Given the description of an element on the screen output the (x, y) to click on. 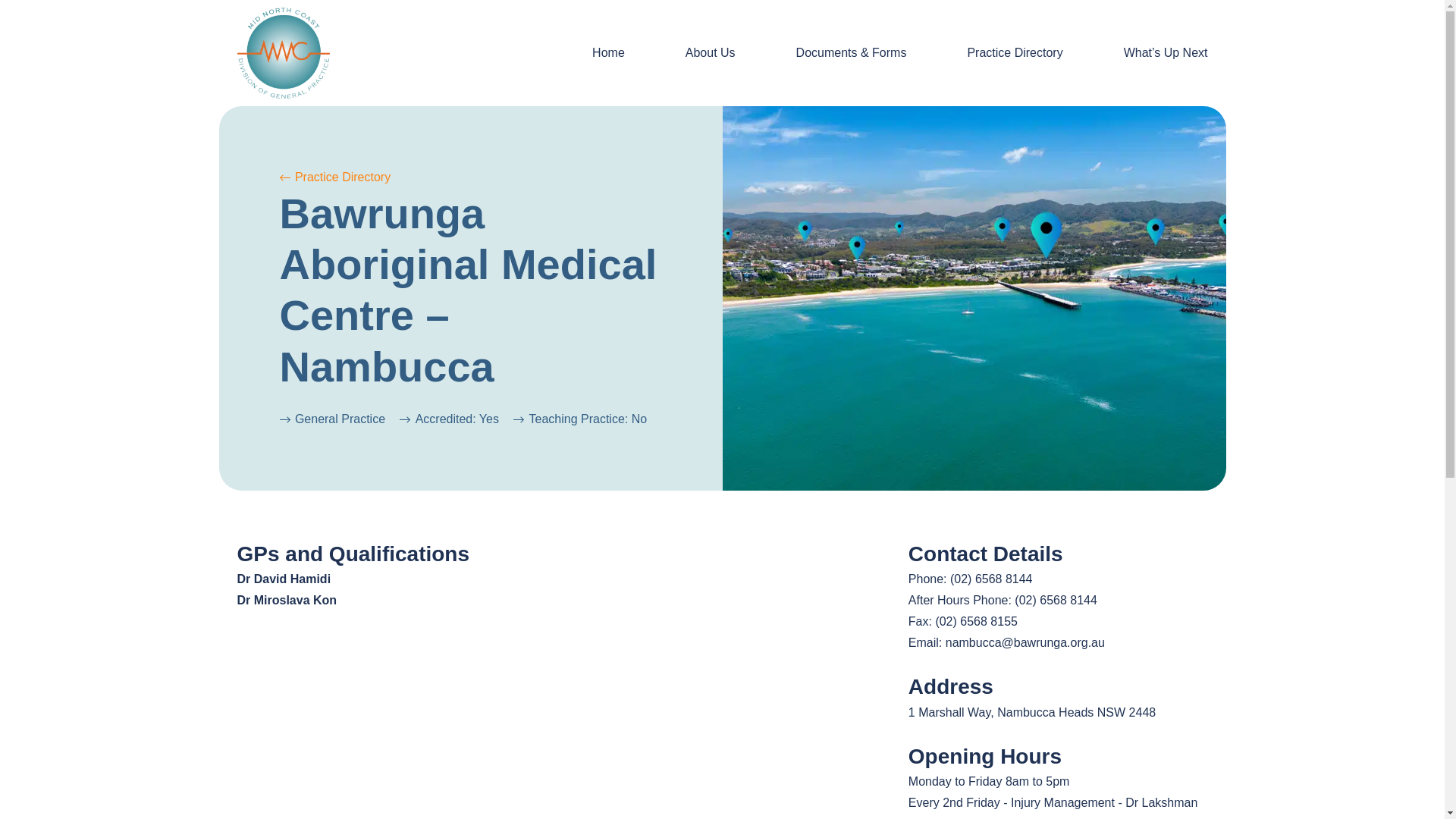
Home Element type: text (608, 53)
Practice Directory Element type: text (1014, 53)
Documents & Forms Element type: text (851, 53)
(02) 6568 8144 Element type: text (991, 578)
(02) 6568 8144 Element type: text (1055, 599)
About Us Element type: text (710, 53)
nambucca@bawrunga.org.au Element type: text (1024, 642)
Practice Directory Element type: text (334, 176)
(02) 6568 8155 Element type: text (976, 621)
